Given the description of an element on the screen output the (x, y) to click on. 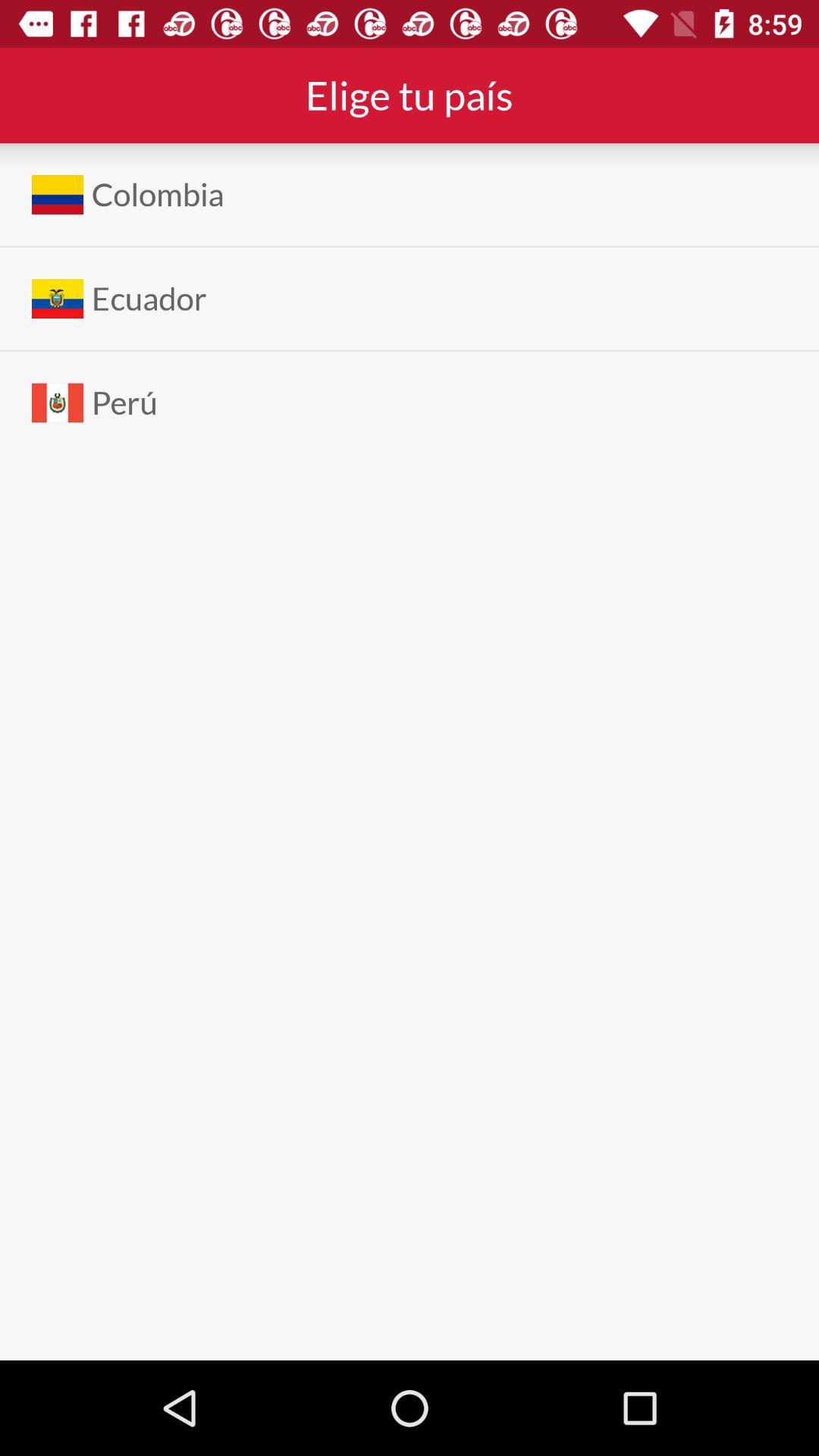
jump until the ecuador item (149, 298)
